Given the description of an element on the screen output the (x, y) to click on. 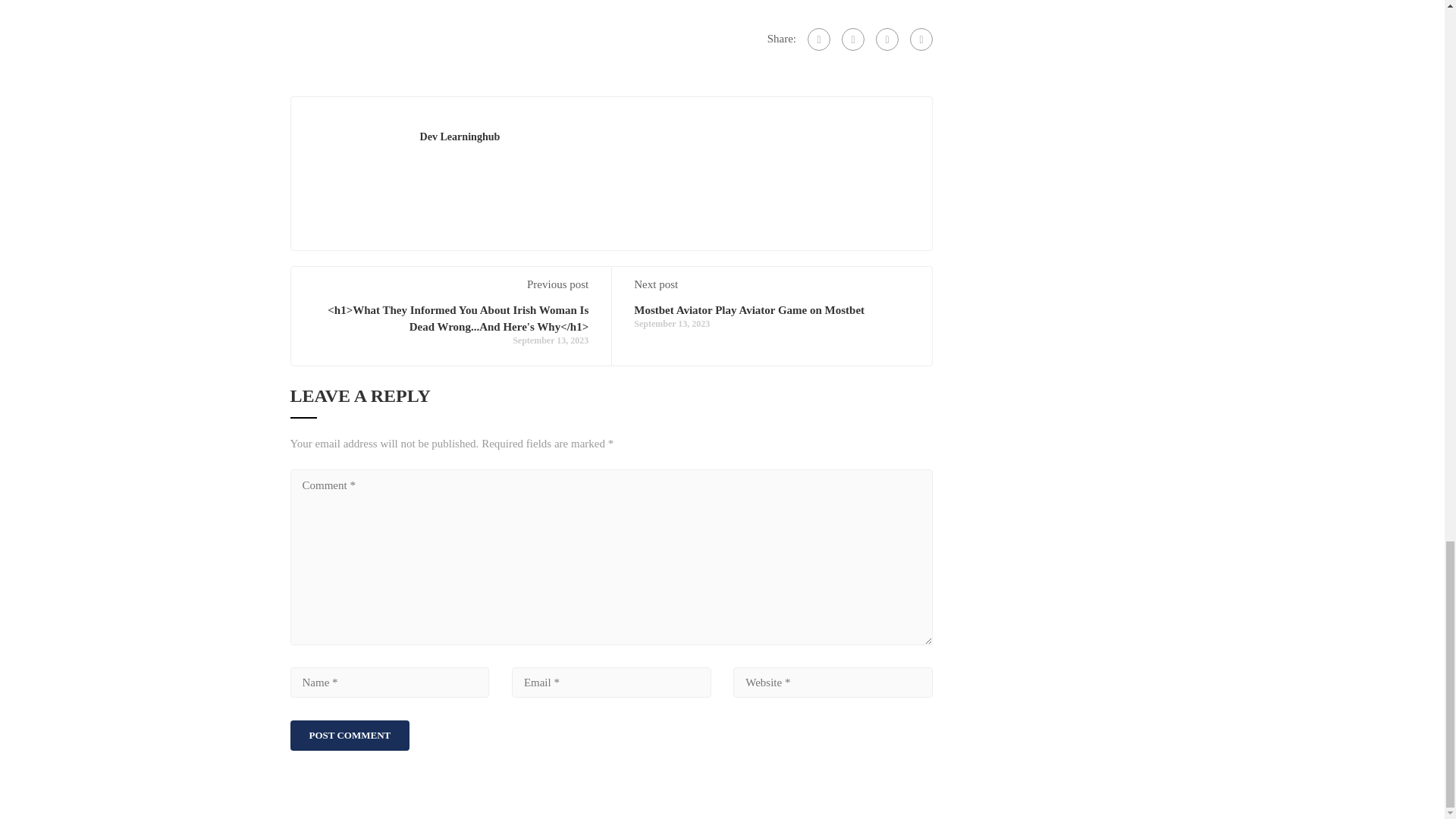
Google Plus (852, 38)
Facebook (818, 38)
Pinterest (921, 38)
Twitter (887, 38)
Post Comment (349, 735)
